Given the description of an element on the screen output the (x, y) to click on. 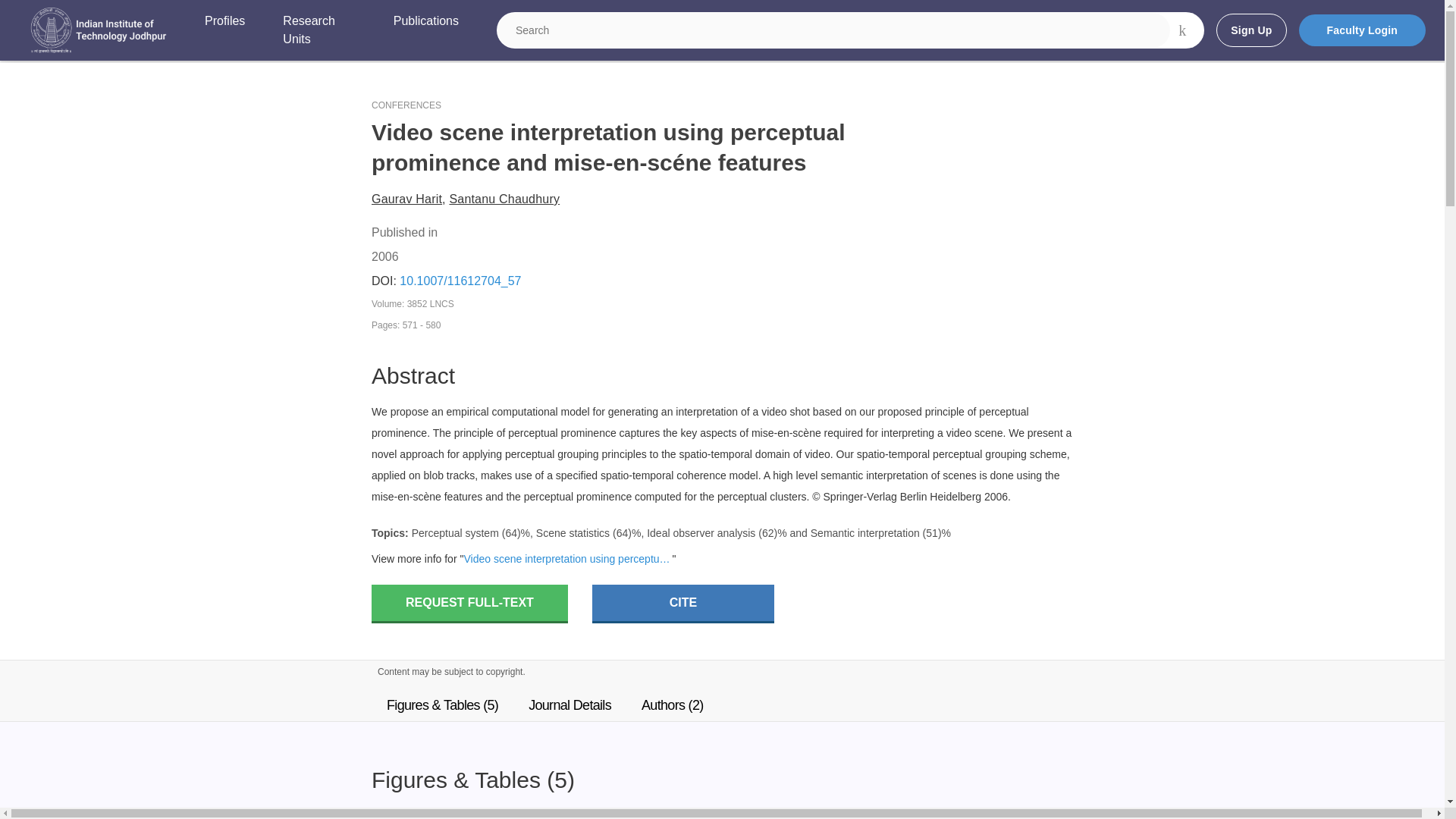
Institution logo (98, 30)
Perceptual system (455, 532)
Profiles (224, 30)
Santanu Chaudhury (503, 198)
Scene statistics (572, 532)
Faculty Login (1361, 29)
REQUEST FULL-TEXT (469, 603)
Sign Up (1250, 29)
Ideal observer analysis (700, 532)
Gaurav Harit (406, 198)
